Given the description of an element on the screen output the (x, y) to click on. 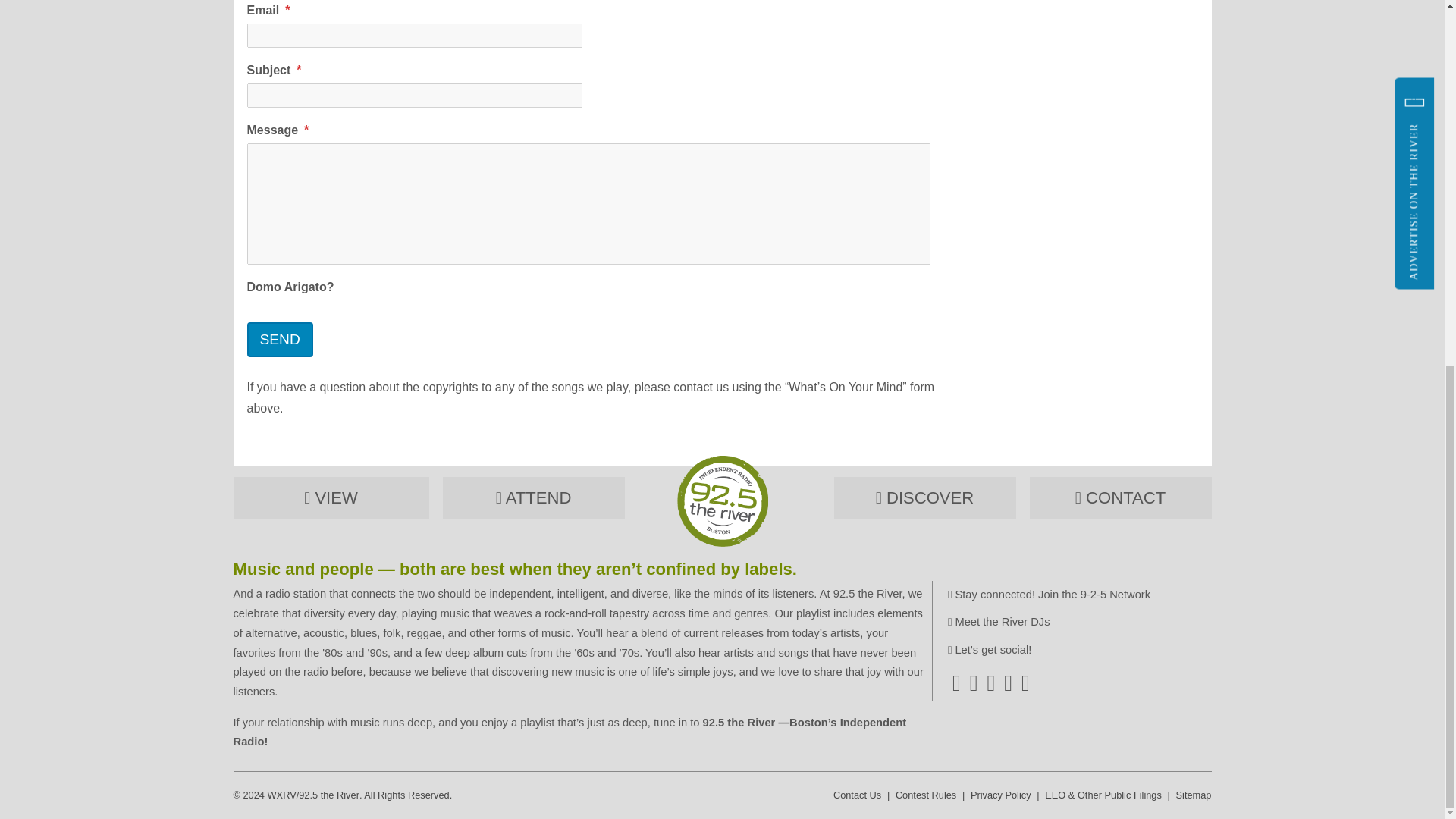
Contact the River (1120, 497)
SEND (280, 339)
SEND (280, 339)
Discover new music and programs (925, 497)
Home (722, 542)
View Photos and Videos (330, 497)
River On-Air Staff (998, 621)
Events and Concerts (533, 497)
